Given the description of an element on the screen output the (x, y) to click on. 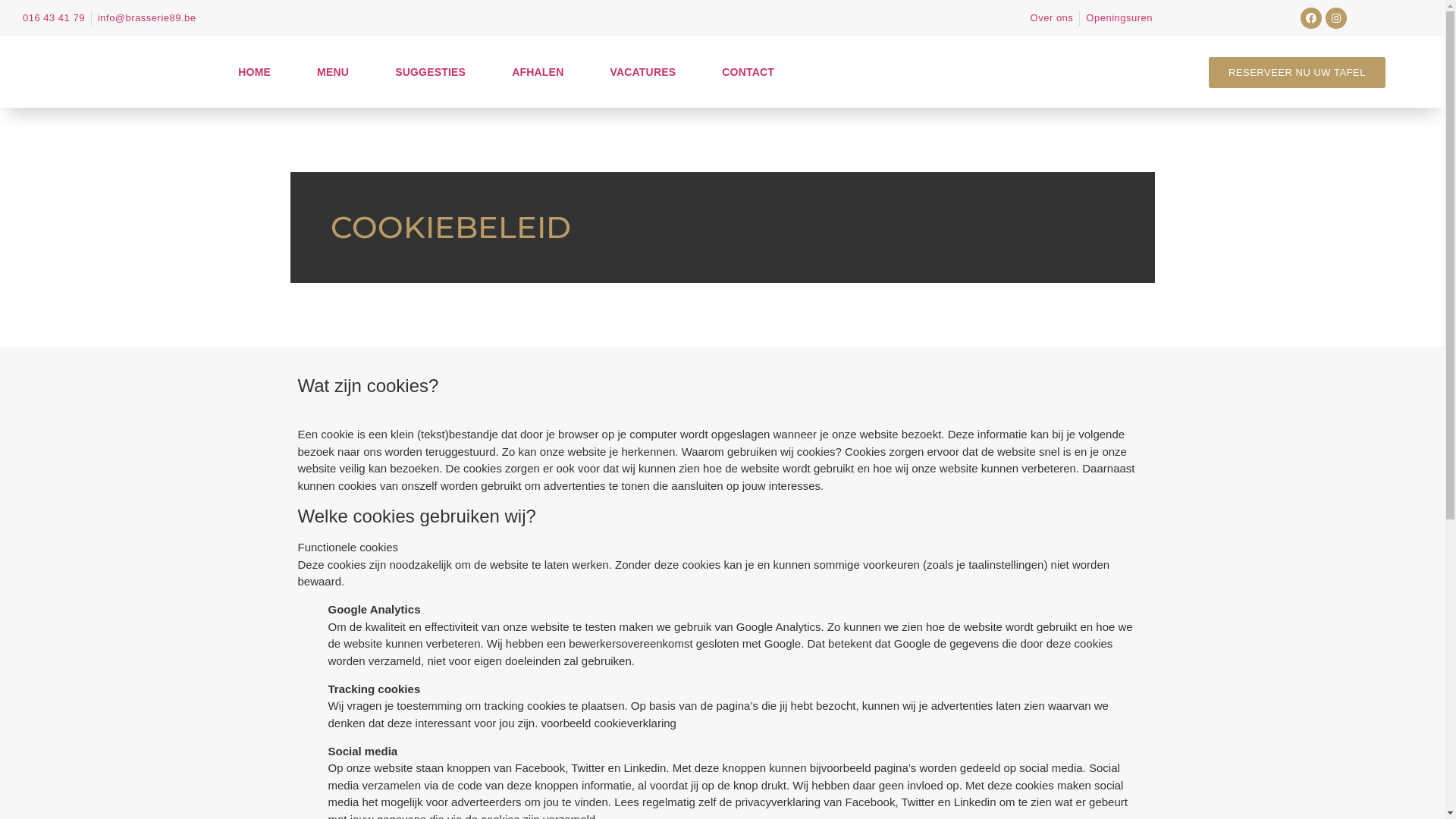
VACATURES Element type: text (642, 71)
HOME Element type: text (253, 71)
SUGGESTIES Element type: text (429, 71)
AFHALEN Element type: text (537, 71)
CONTACT Element type: text (747, 71)
016 43 41 79 Element type: text (53, 17)
RESERVEER NU UW TAFEL Element type: text (1296, 71)
Openingsuren Element type: text (1118, 17)
info@brasserie89.be Element type: text (146, 17)
Over ons Element type: text (1051, 17)
MENU Element type: text (332, 71)
